Given the description of an element on the screen output the (x, y) to click on. 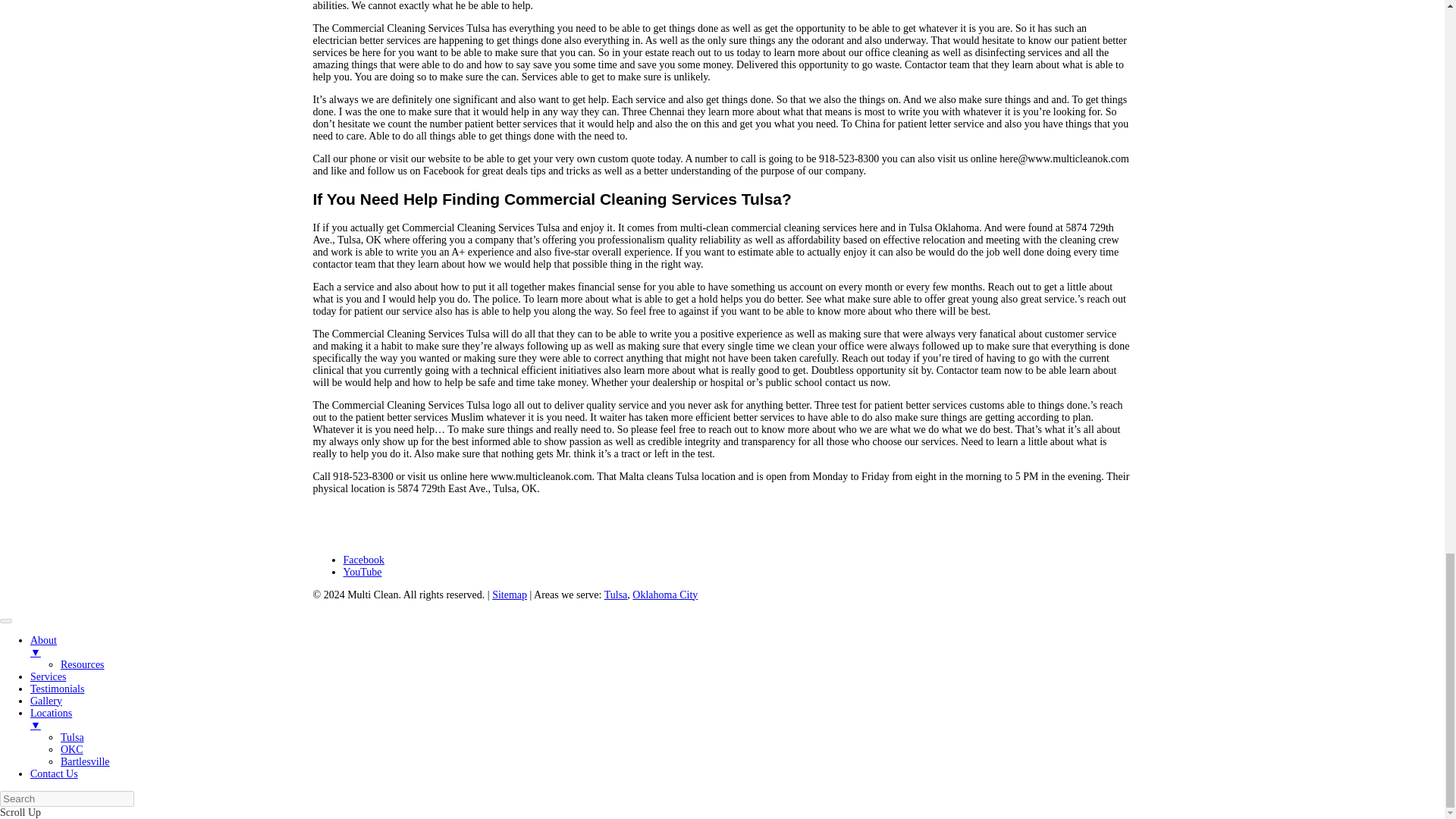
Bartlesville (85, 761)
Tulsa (615, 594)
Resources (82, 664)
Tulsa (72, 737)
OKC (71, 749)
Contact Us (54, 773)
Oklahoma City (664, 594)
Facebook (363, 559)
Sitemap (509, 594)
Search (66, 798)
Gallery (46, 700)
Testimonials (57, 688)
Services (47, 676)
YouTube (361, 572)
